Given the description of an element on the screen output the (x, y) to click on. 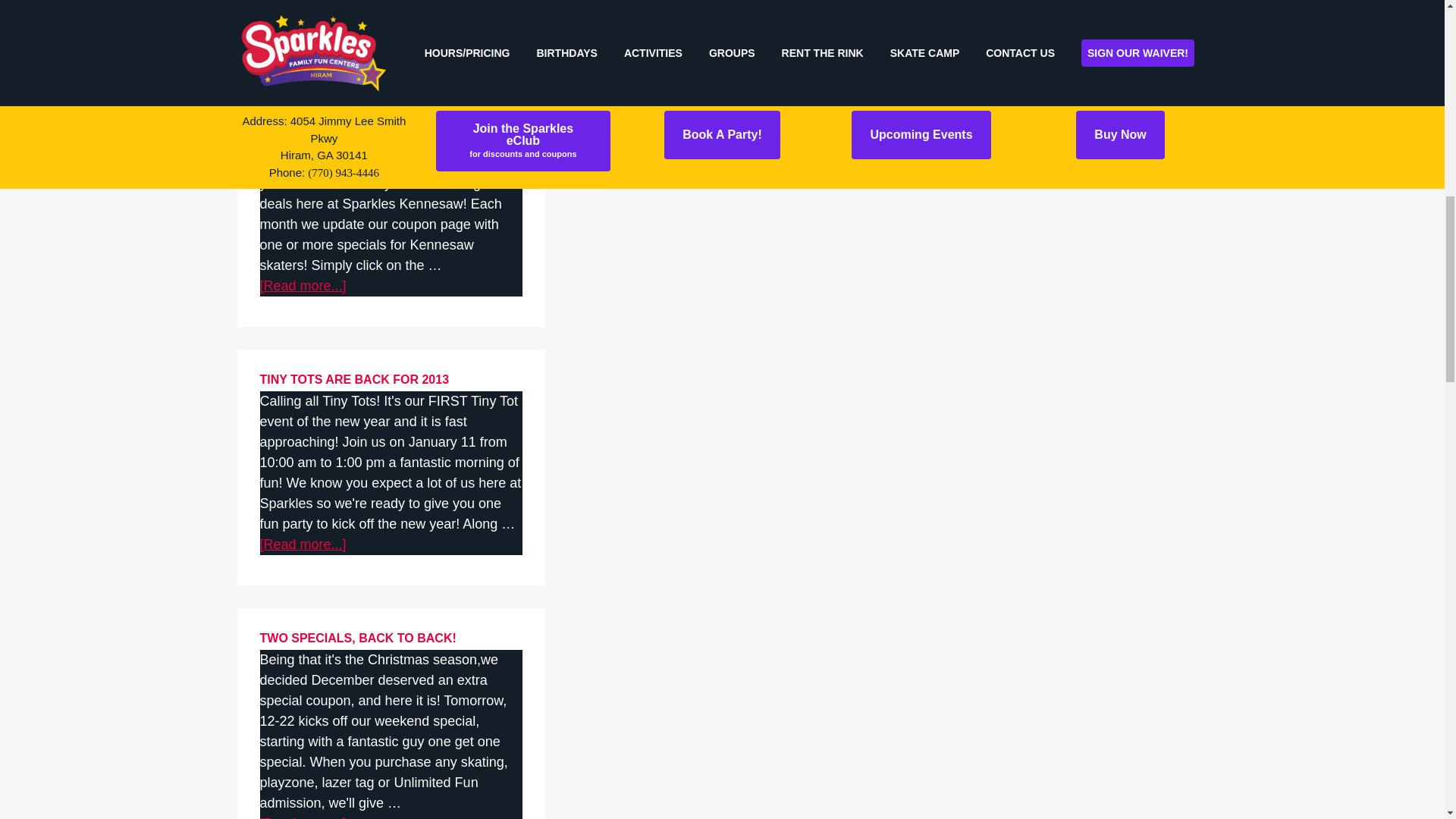
JANUARY SPECIALS AT SPARKLES KENNESAW (363, 92)
TINY TOTS ARE BACK FOR 2013 (353, 379)
TWO SPECIALS, BACK TO BACK! (357, 637)
